Given the description of an element on the screen output the (x, y) to click on. 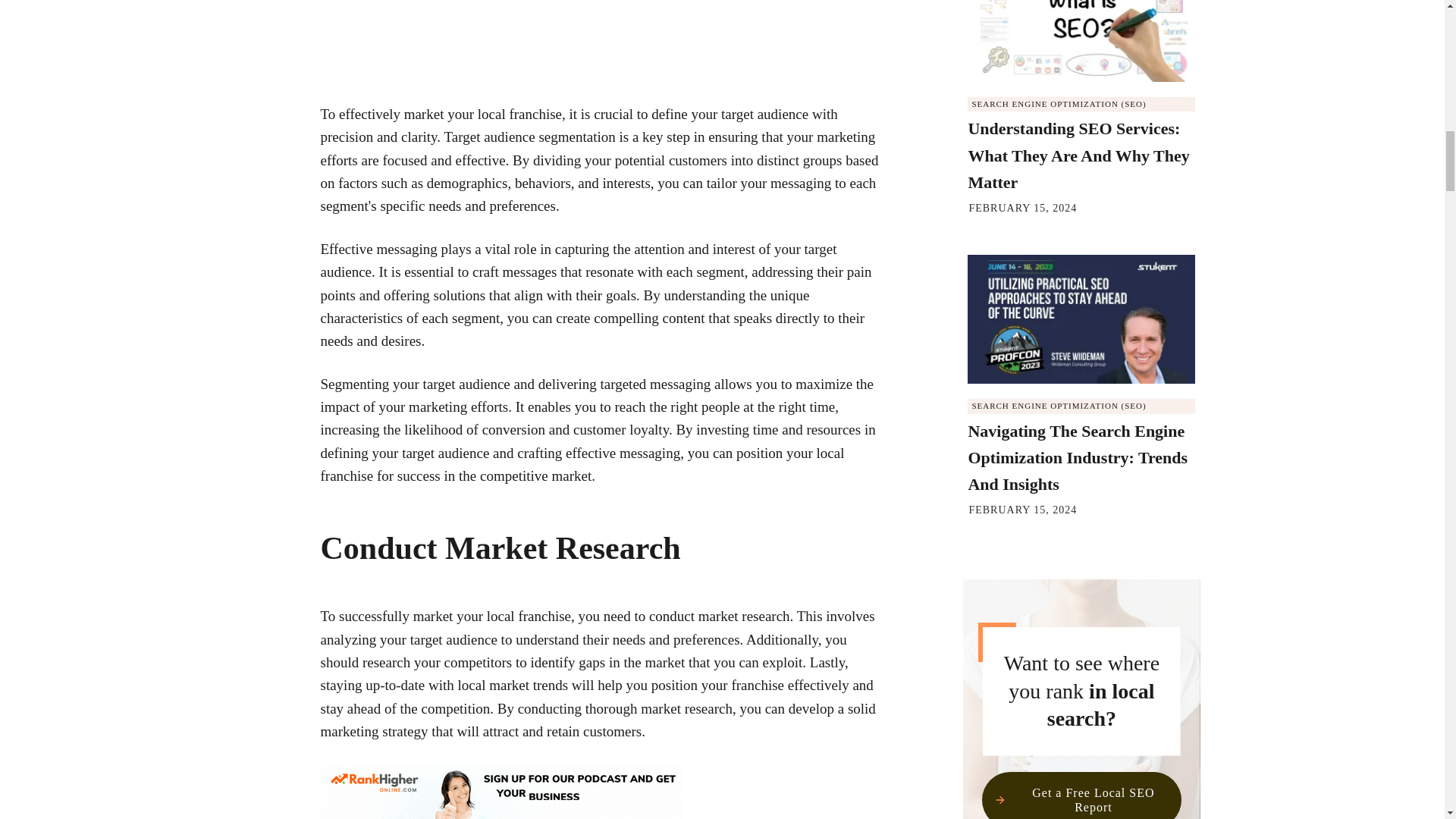
YouTube video player (603, 51)
